Given the description of an element on the screen output the (x, y) to click on. 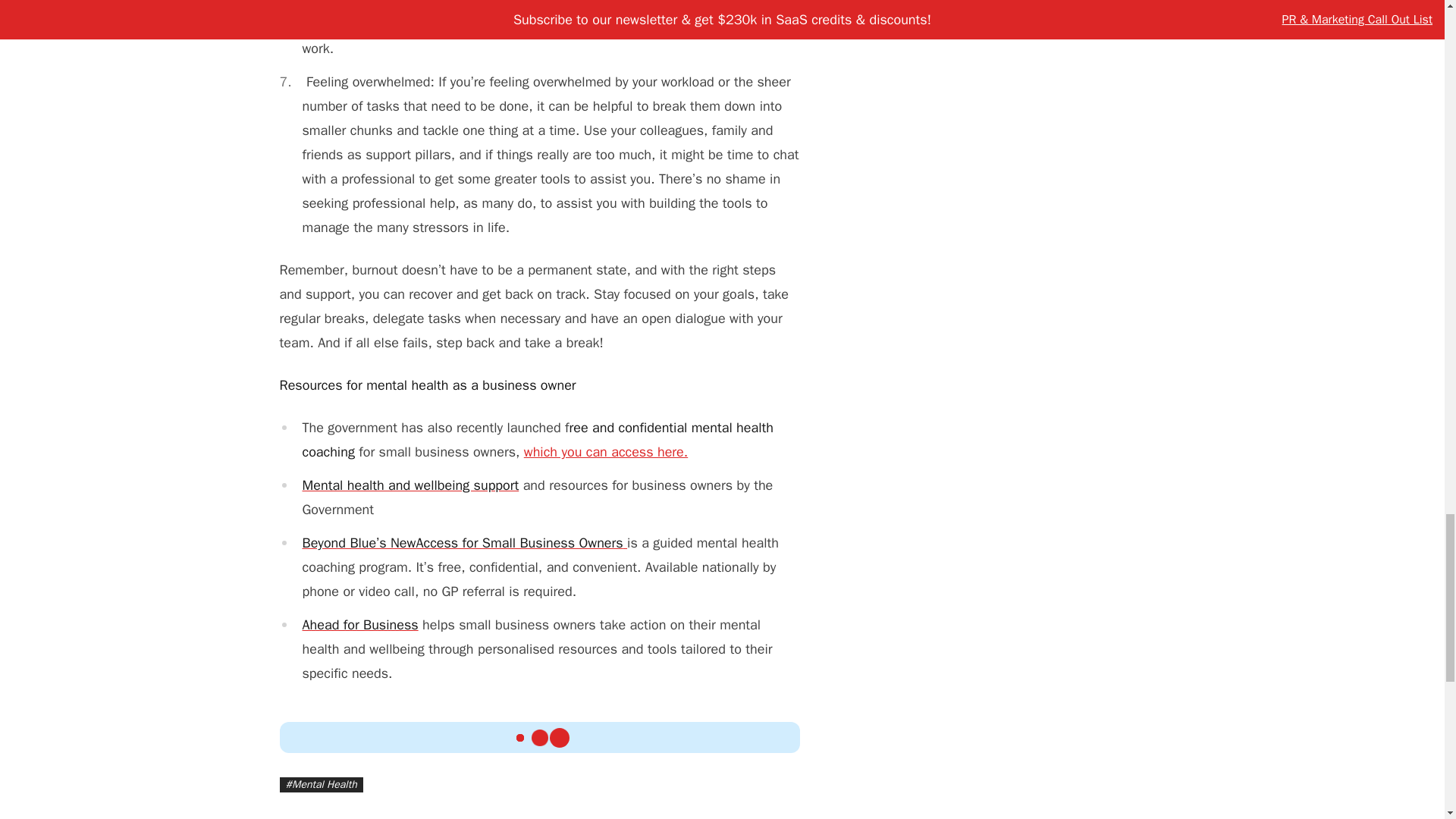
which you can access here. (605, 451)
Mental health and wellbeing support (409, 484)
Ahead for Business (359, 624)
